Given the description of an element on the screen output the (x, y) to click on. 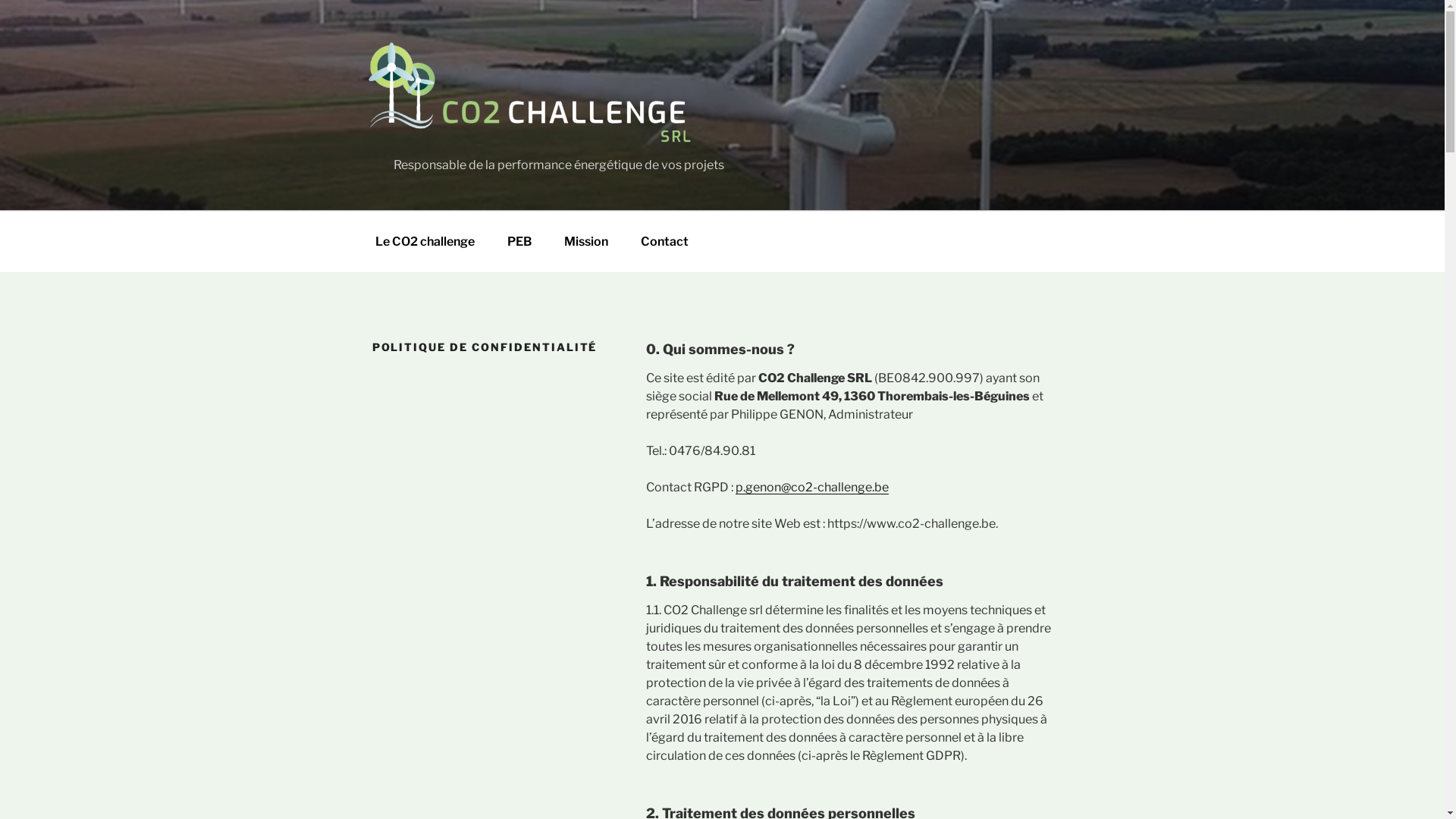
Aller au contenu principal Element type: text (0, 0)
Contact Element type: text (664, 241)
PEB Element type: text (519, 241)
p.genon@co2-challenge.be Element type: text (811, 487)
Mission Element type: text (586, 241)
Le CO2 challenge Element type: text (424, 241)
